Given the description of an element on the screen output the (x, y) to click on. 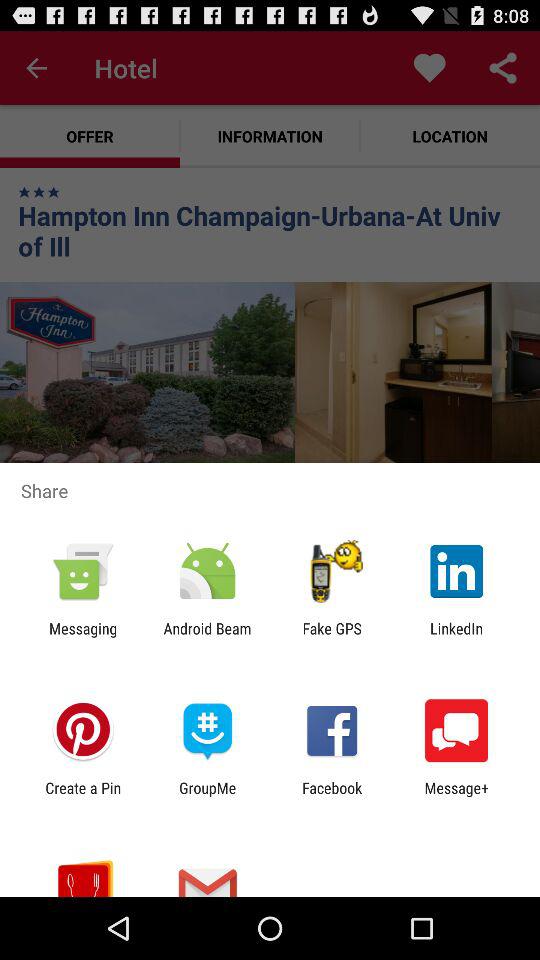
jump to create a pin item (83, 796)
